Given the description of an element on the screen output the (x, y) to click on. 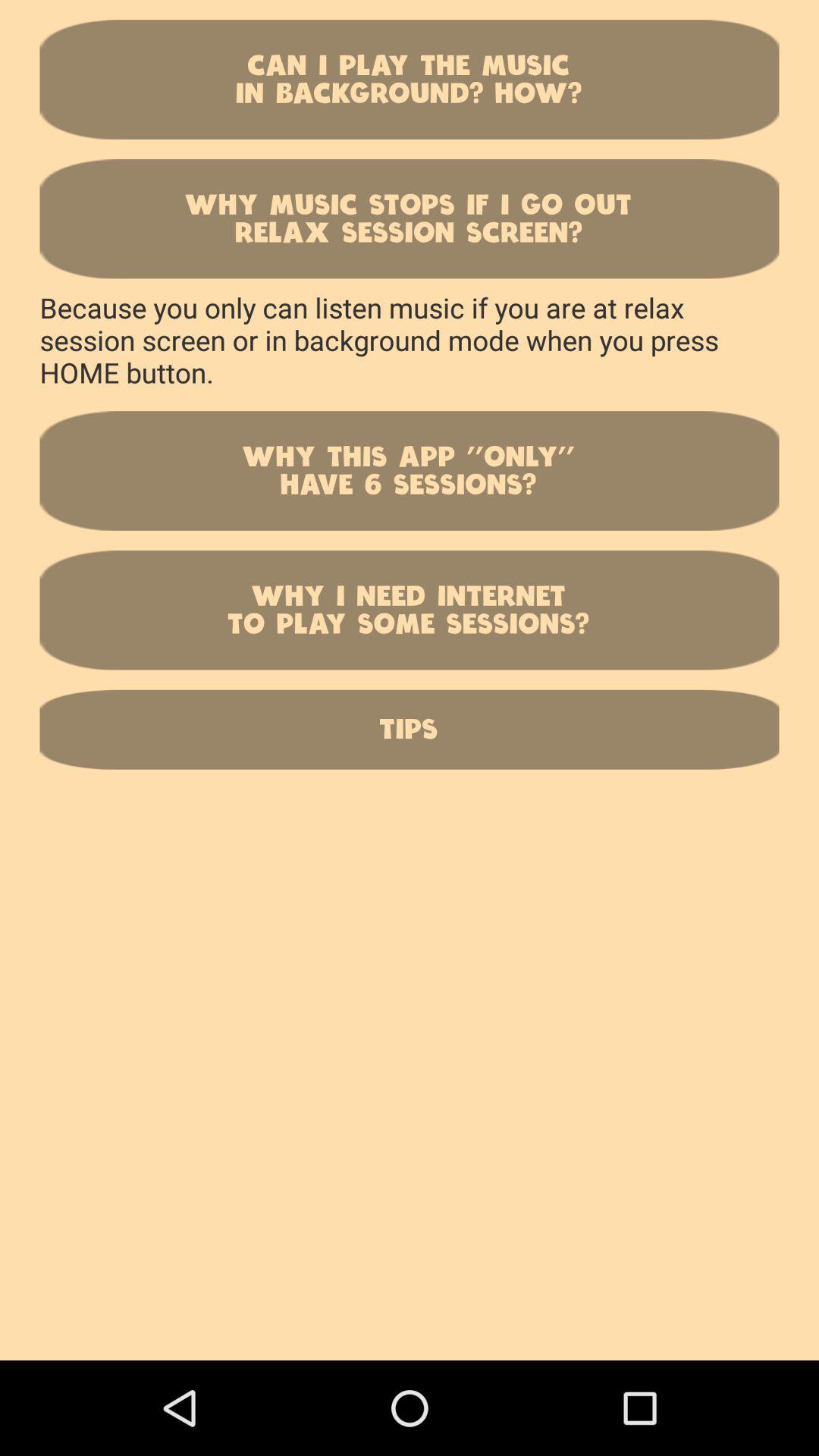
launch icon below why i need (409, 729)
